Given the description of an element on the screen output the (x, y) to click on. 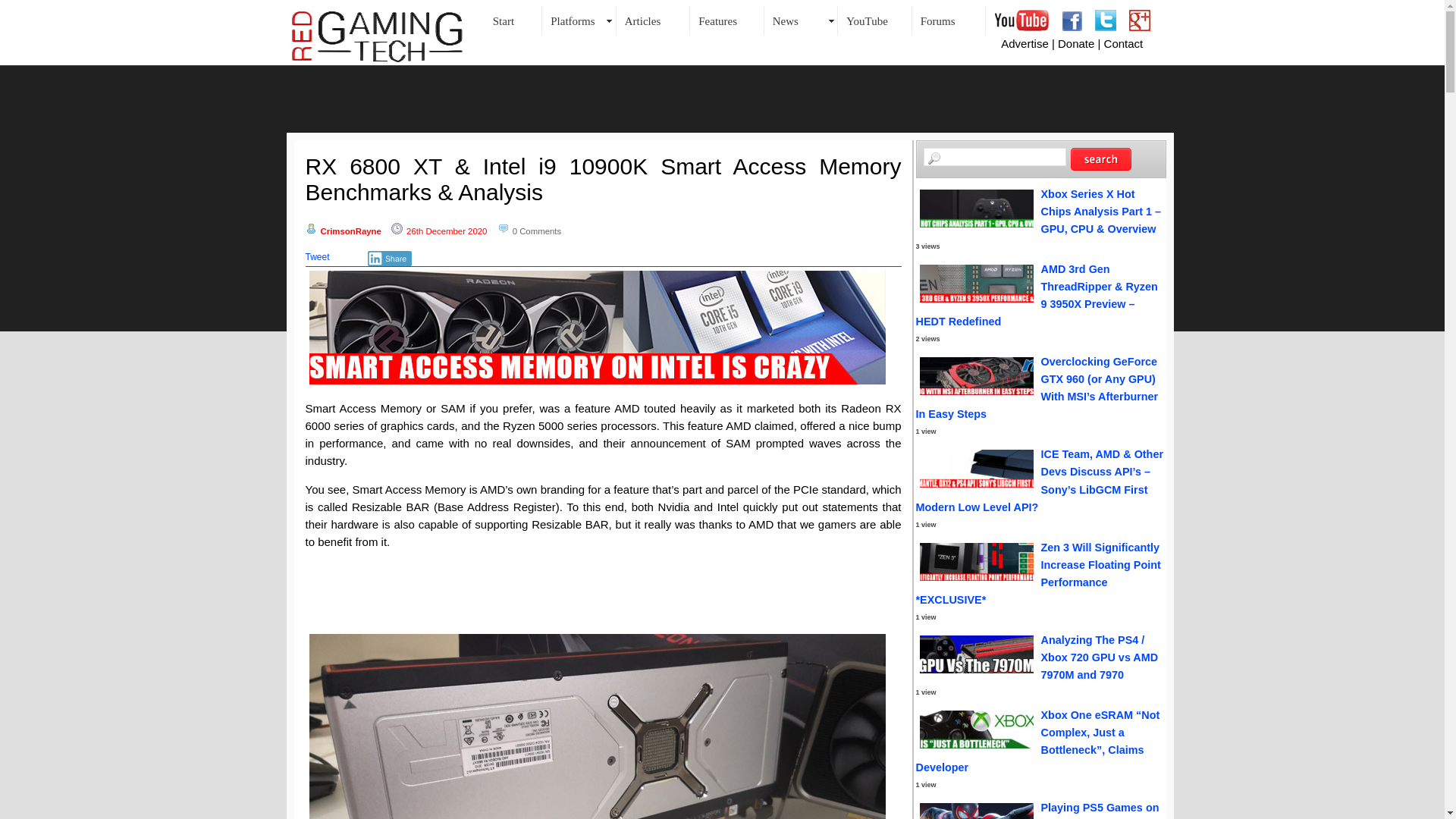
Advertisement (603, 595)
Contact (1122, 42)
Share (390, 258)
0 Comments (537, 230)
Advertise (1024, 42)
YouTube (875, 20)
Features (727, 20)
Advertisement (721, 98)
Donate (1076, 42)
News (801, 20)
Platforms (578, 20)
Articles (652, 20)
Start (513, 20)
Forums (948, 20)
RedGamingTech (377, 36)
